Given the description of an element on the screen output the (x, y) to click on. 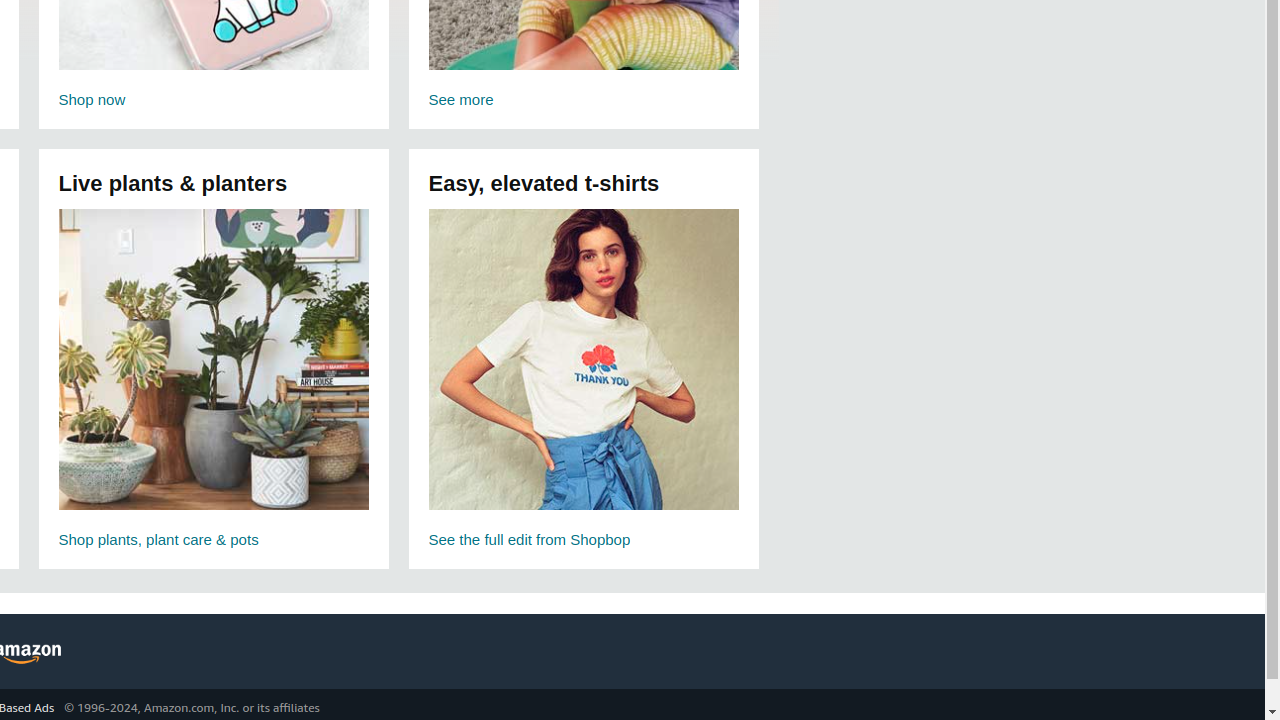
Easy, elevated t-shirts See the full edit from Shopbop Element type: link (583, 380)
Live plants & planters Shop plants, plant care & pots Element type: link (213, 380)
